Given the description of an element on the screen output the (x, y) to click on. 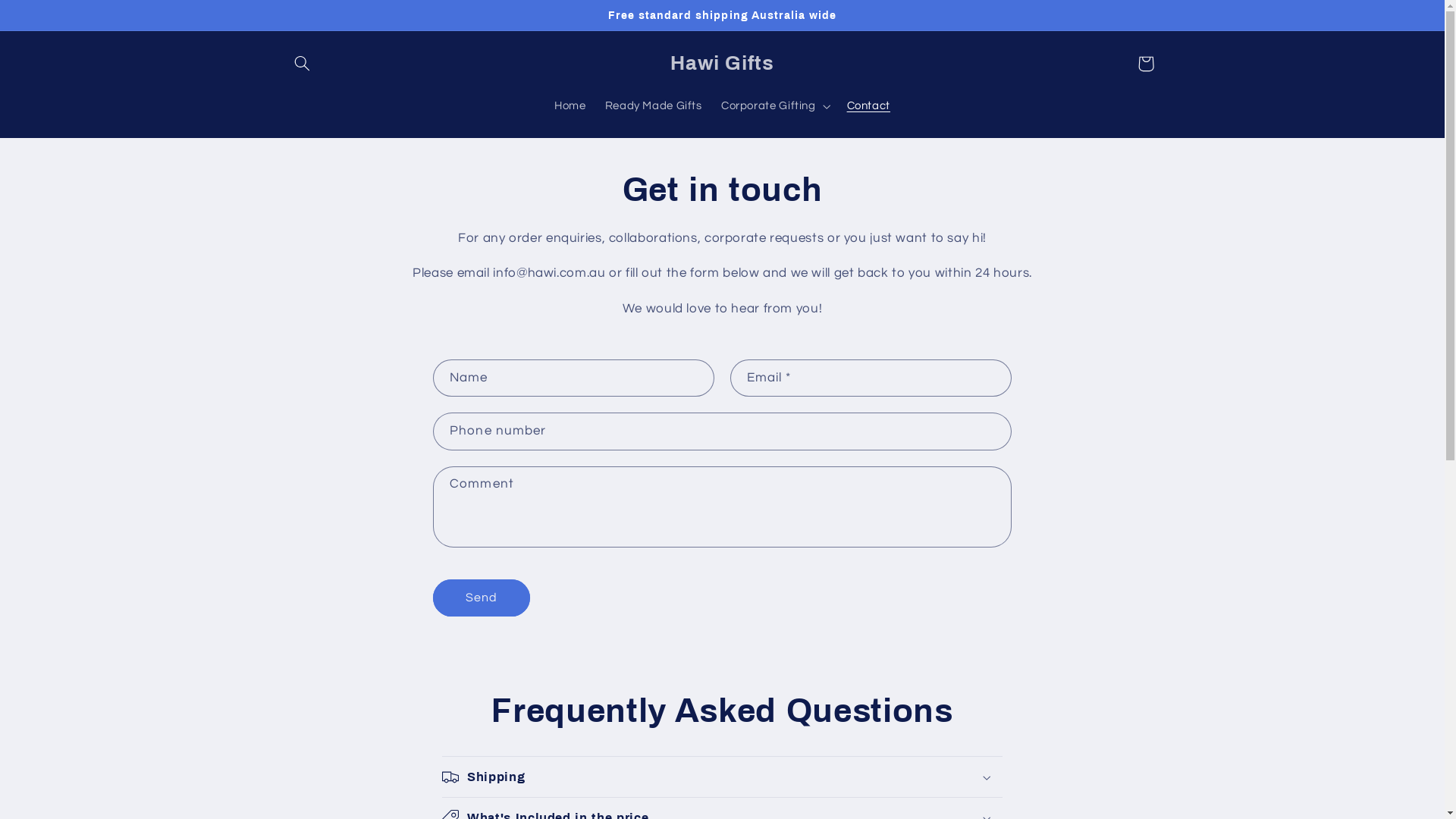
Send Element type: text (481, 597)
Hawi Gifts Element type: text (721, 63)
Contact Element type: text (868, 105)
Cart Element type: text (1145, 63)
Home Element type: text (569, 105)
Ready Made Gifts Element type: text (653, 105)
